Given the description of an element on the screen output the (x, y) to click on. 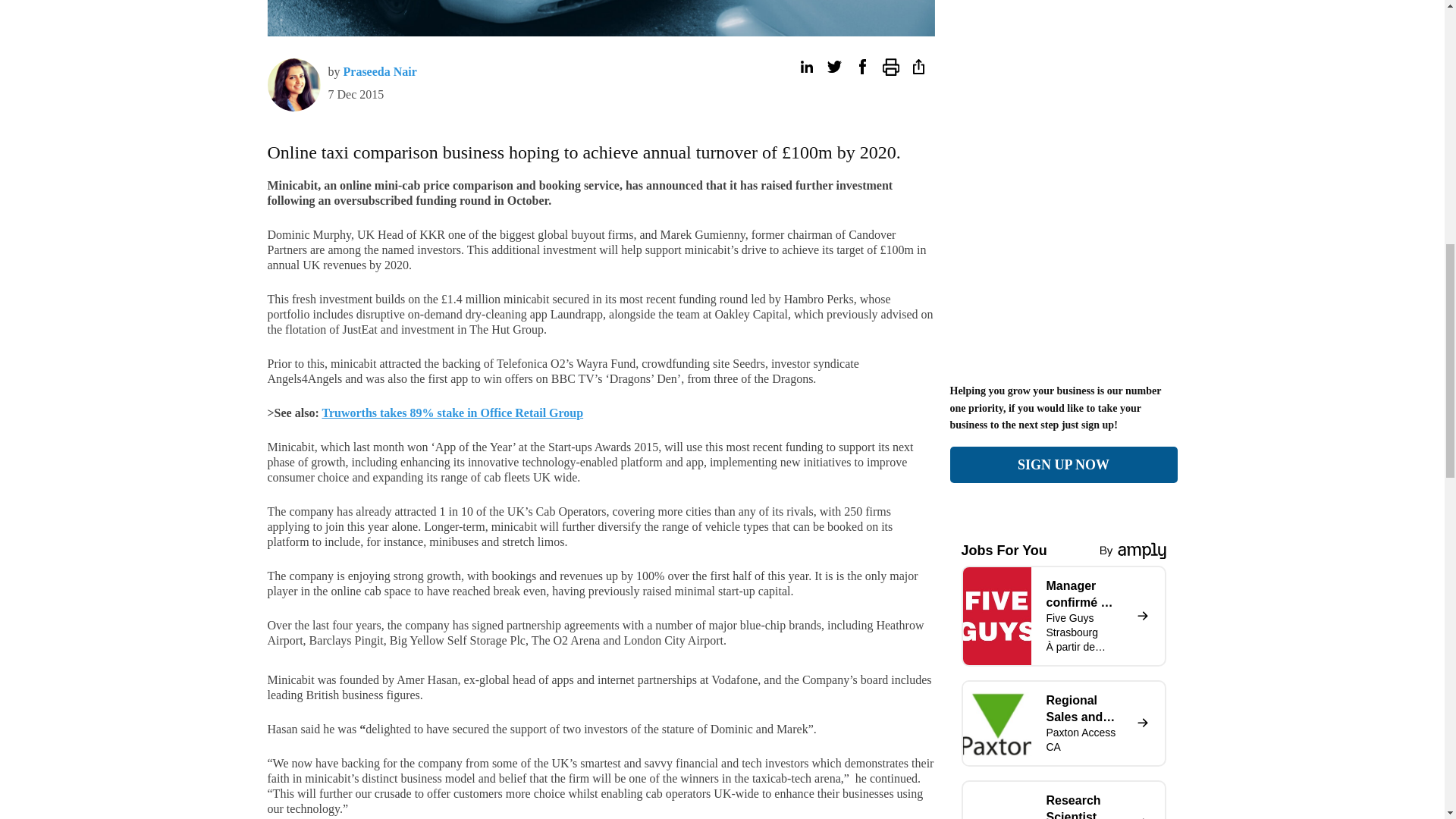
Share on LinkedIn (805, 67)
Tweet this article (835, 67)
3rd party ad content (1062, 272)
3rd party ad content (1249, 4)
3rd party ad content (195, 4)
Share on Facebook (861, 67)
Print this article (890, 67)
